Given the description of an element on the screen output the (x, y) to click on. 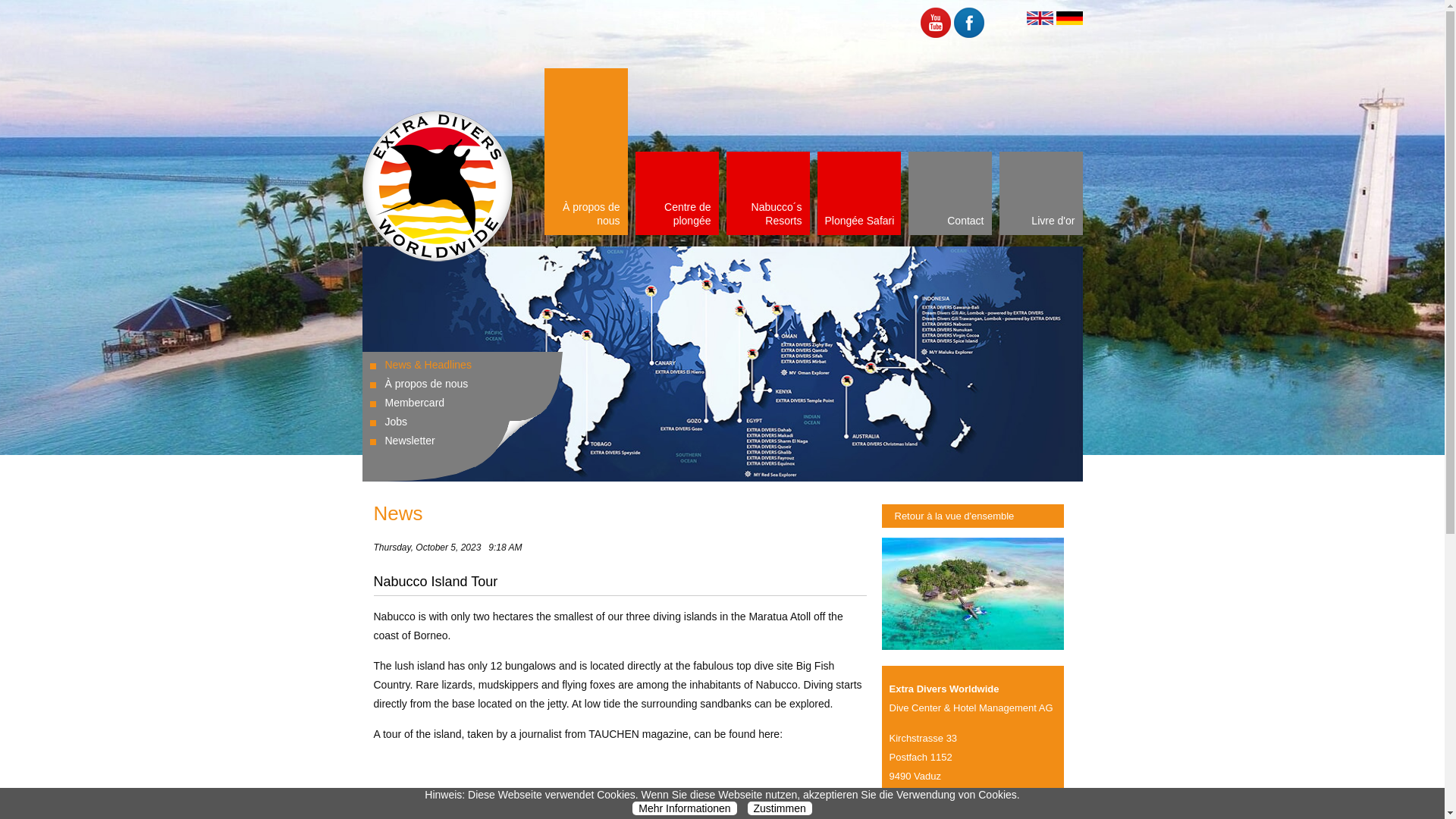
Newsletter (410, 440)
Contact (949, 193)
Jobs (396, 421)
YouTube video player (584, 787)
Membercard (415, 402)
Mehr Informationen (683, 807)
Livre d'or (1040, 193)
Zustimmen (780, 807)
